Given the description of an element on the screen output the (x, y) to click on. 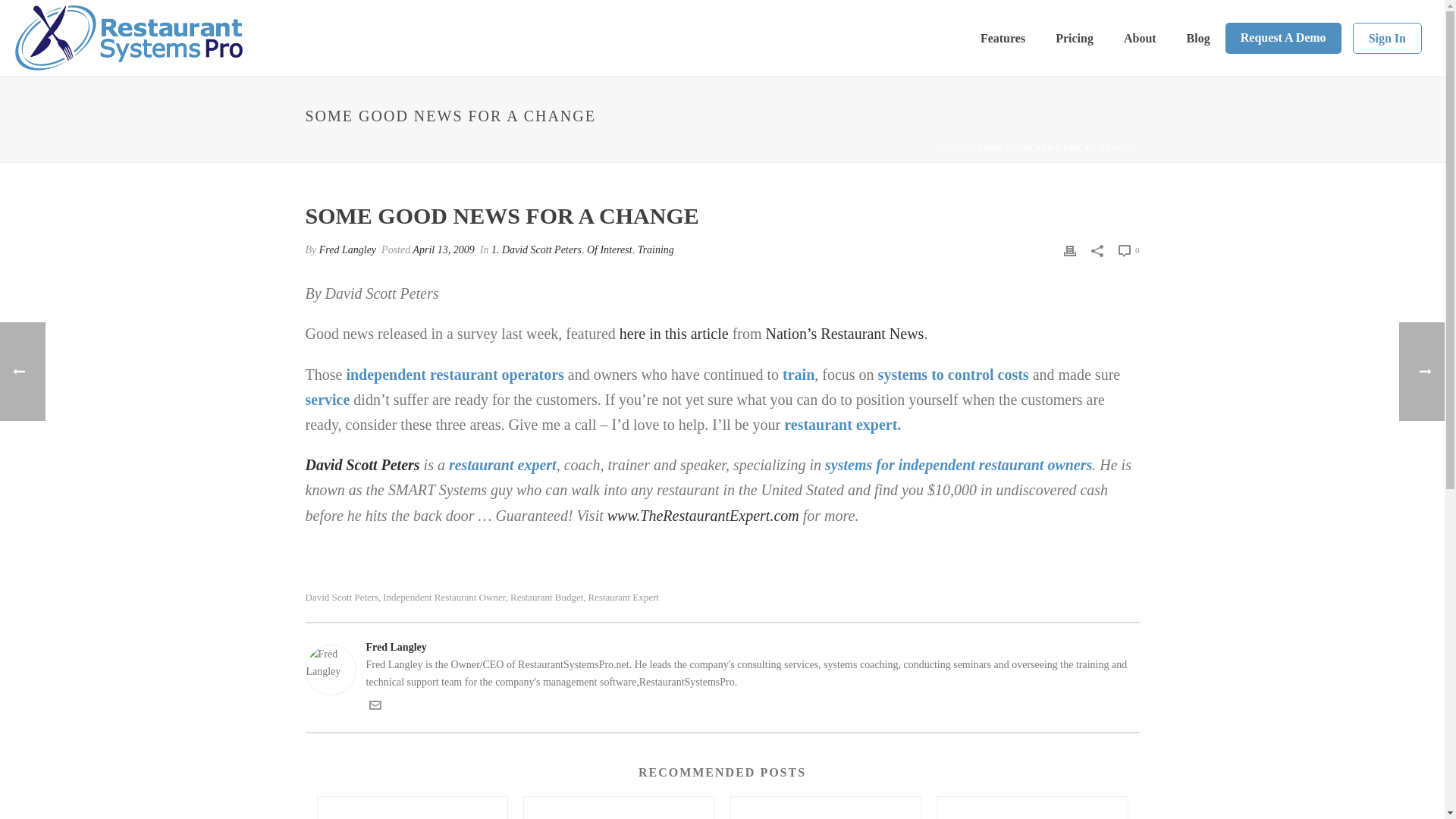
Top 3 Tips for How to Run a Restaurant (411, 807)
Blog (1198, 38)
0 (1128, 249)
Online Restaurant Management Solution (128, 37)
About (1140, 38)
Restaurant Budget (547, 596)
Restaurant Prime Cost Formula (825, 807)
HOME (955, 148)
here in this article (676, 333)
Training (655, 249)
Features (1003, 38)
1. David Scott Peters (536, 249)
Fred Langley (721, 647)
Ways to Increase Restaurant Sales (1031, 807)
How to Track Restaurant Sales Correctly (619, 807)
